Given the description of an element on the screen output the (x, y) to click on. 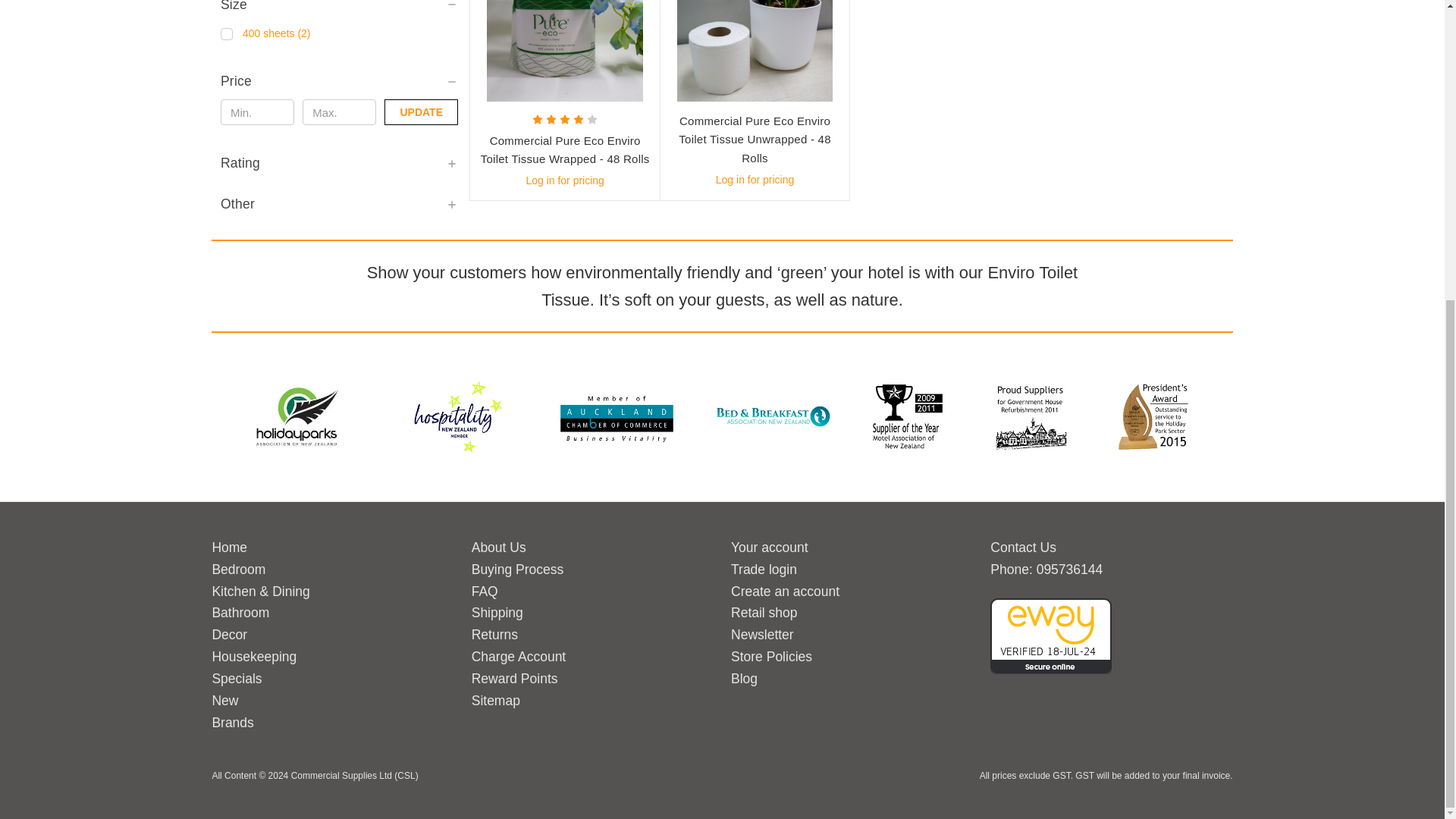
eWAY Payment Gateway (1051, 634)
Commercial Pure Eco Enviro Toilet Tissue Wrapped - 48 Rolls (564, 50)
